Given the description of an element on the screen output the (x, y) to click on. 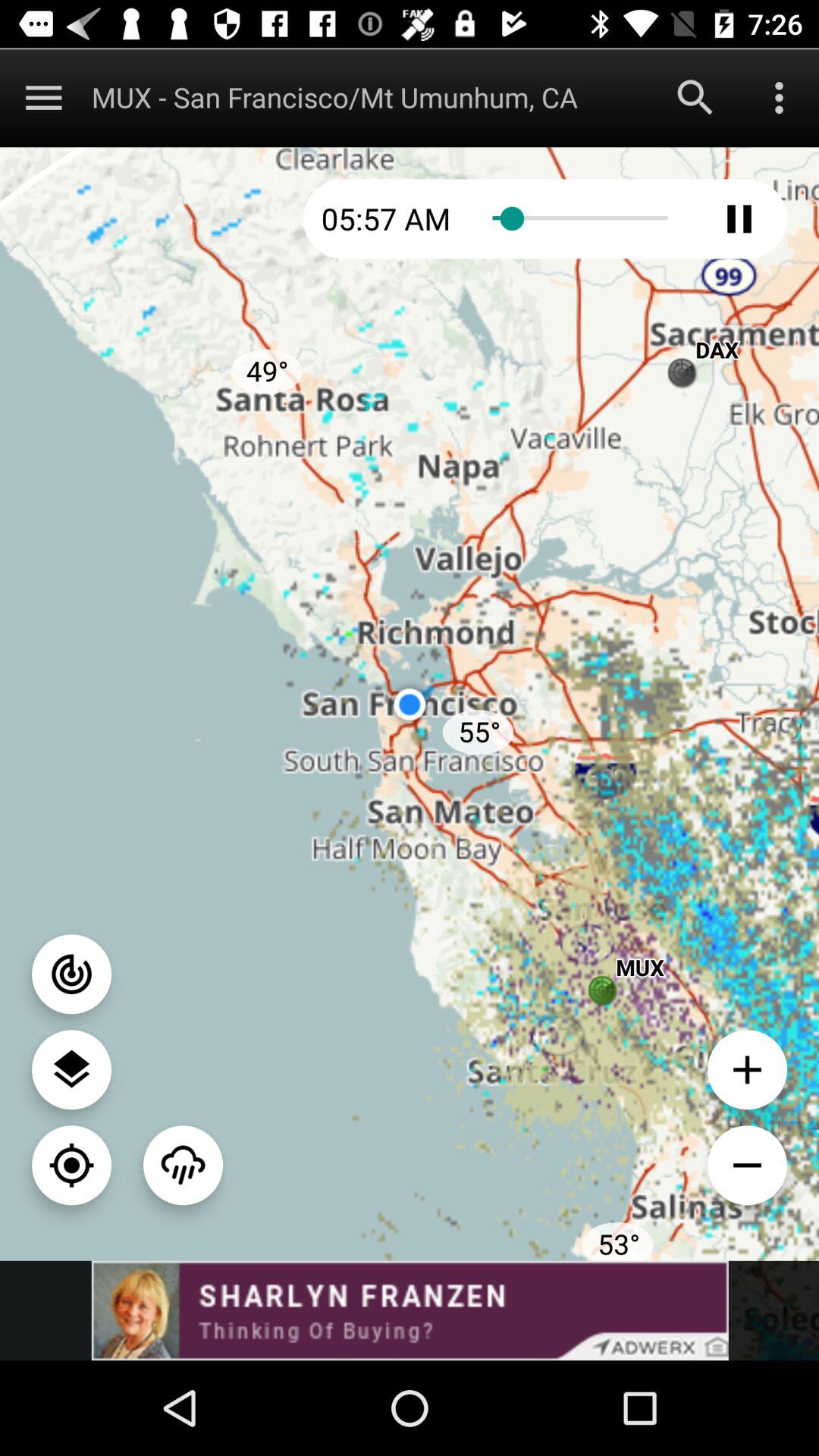
advertising (409, 1310)
